Given the description of an element on the screen output the (x, y) to click on. 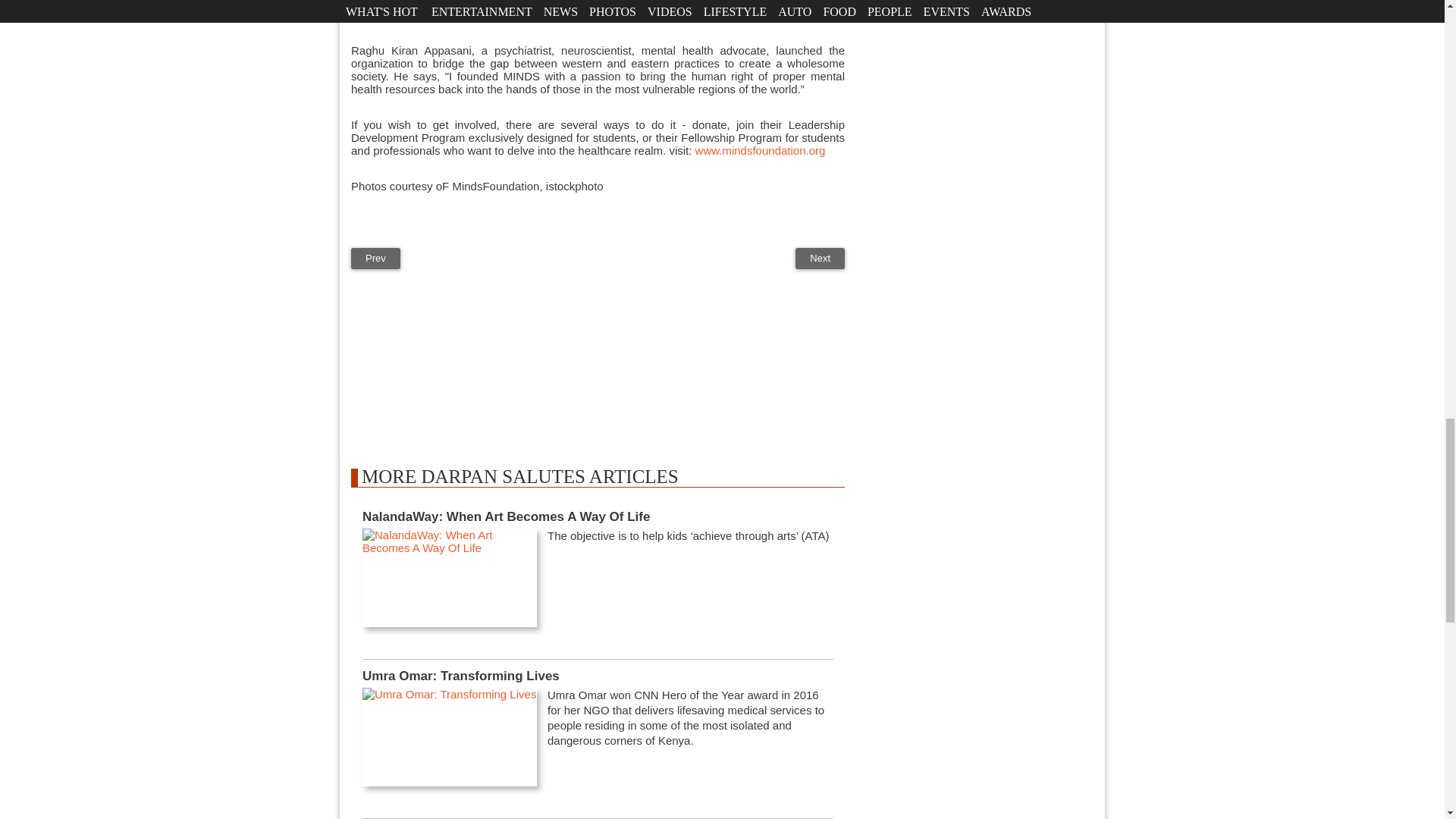
www.mindsfoundation.org (760, 150)
Prev (375, 258)
Next (819, 258)
NalandaWay: When Art Becomes A Way Of Life (505, 516)
